Given the description of an element on the screen output the (x, y) to click on. 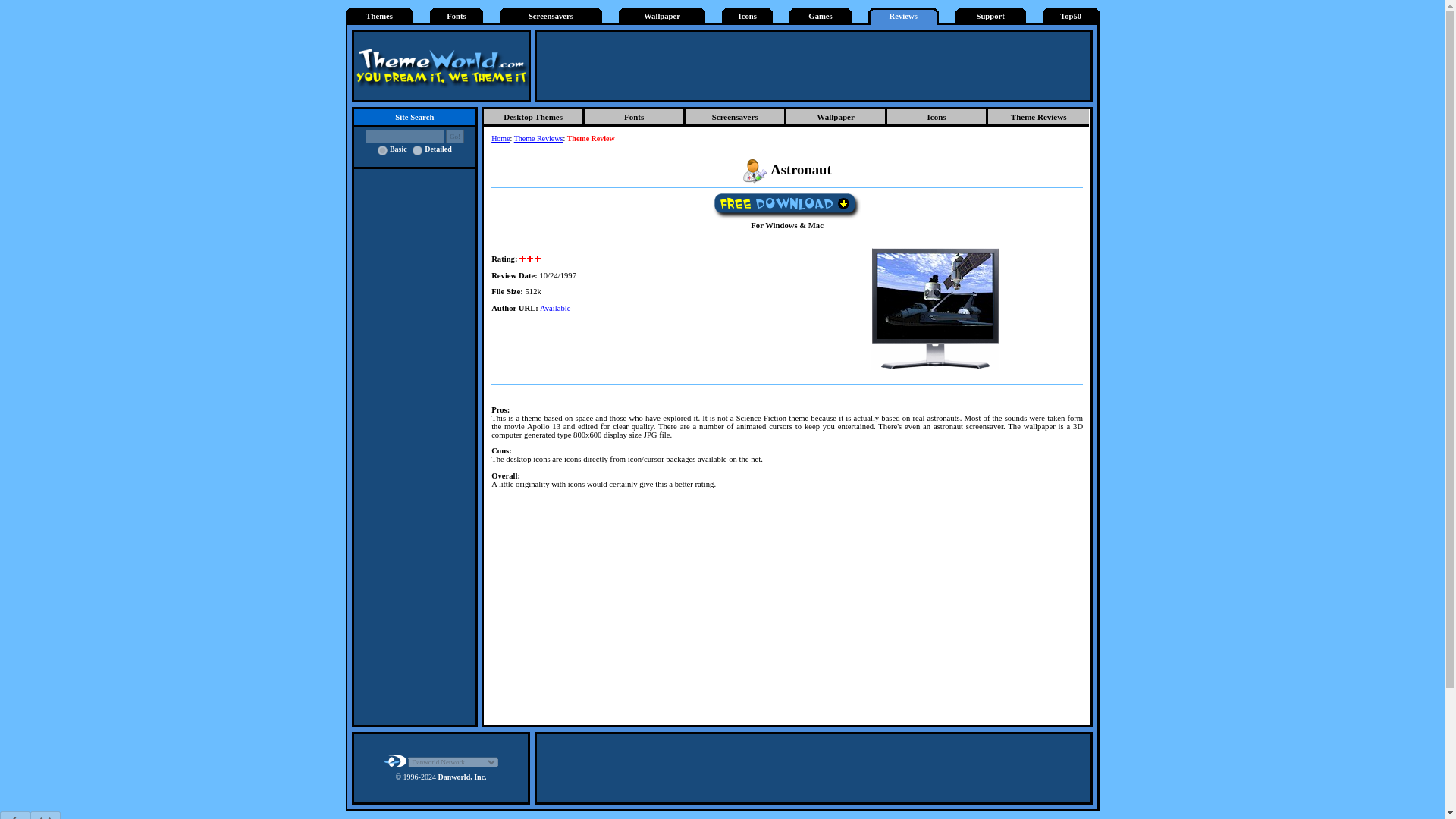
Advertisement (787, 611)
Top50 (1070, 16)
Go! (454, 136)
Desktop Themes (534, 117)
Games (819, 16)
Screensavers (550, 16)
Fonts (455, 16)
Wallpaper (661, 16)
Reviews (903, 16)
Fonts (635, 117)
